Given the description of an element on the screen output the (x, y) to click on. 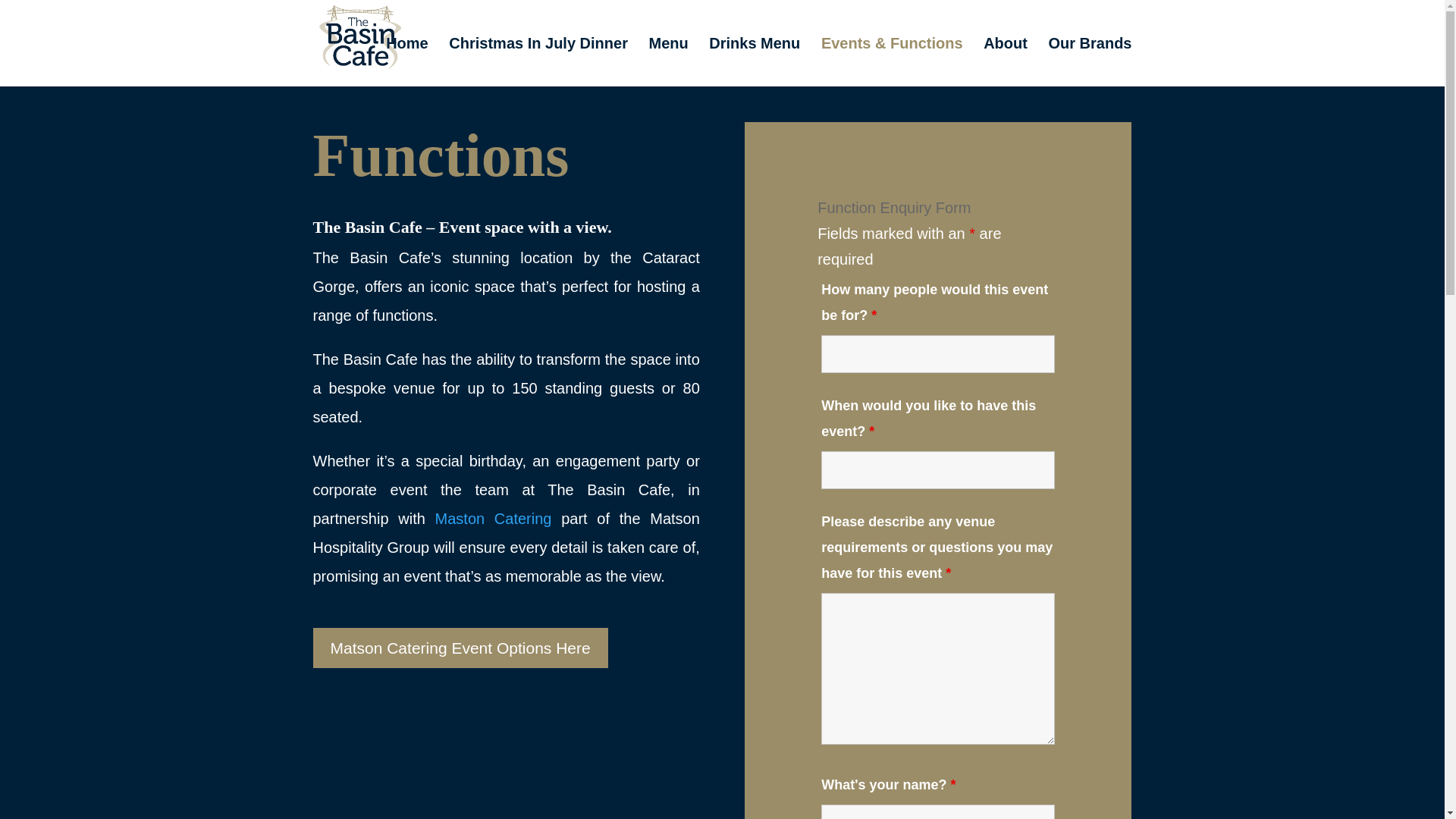
Matson Catering Event Options Here (460, 647)
Maston Catering (498, 518)
Our Brands (1089, 61)
Matson Catering  (498, 518)
Drinks Menu (754, 61)
About (1005, 61)
Christmas In July Dinner (537, 61)
